Given the description of an element on the screen output the (x, y) to click on. 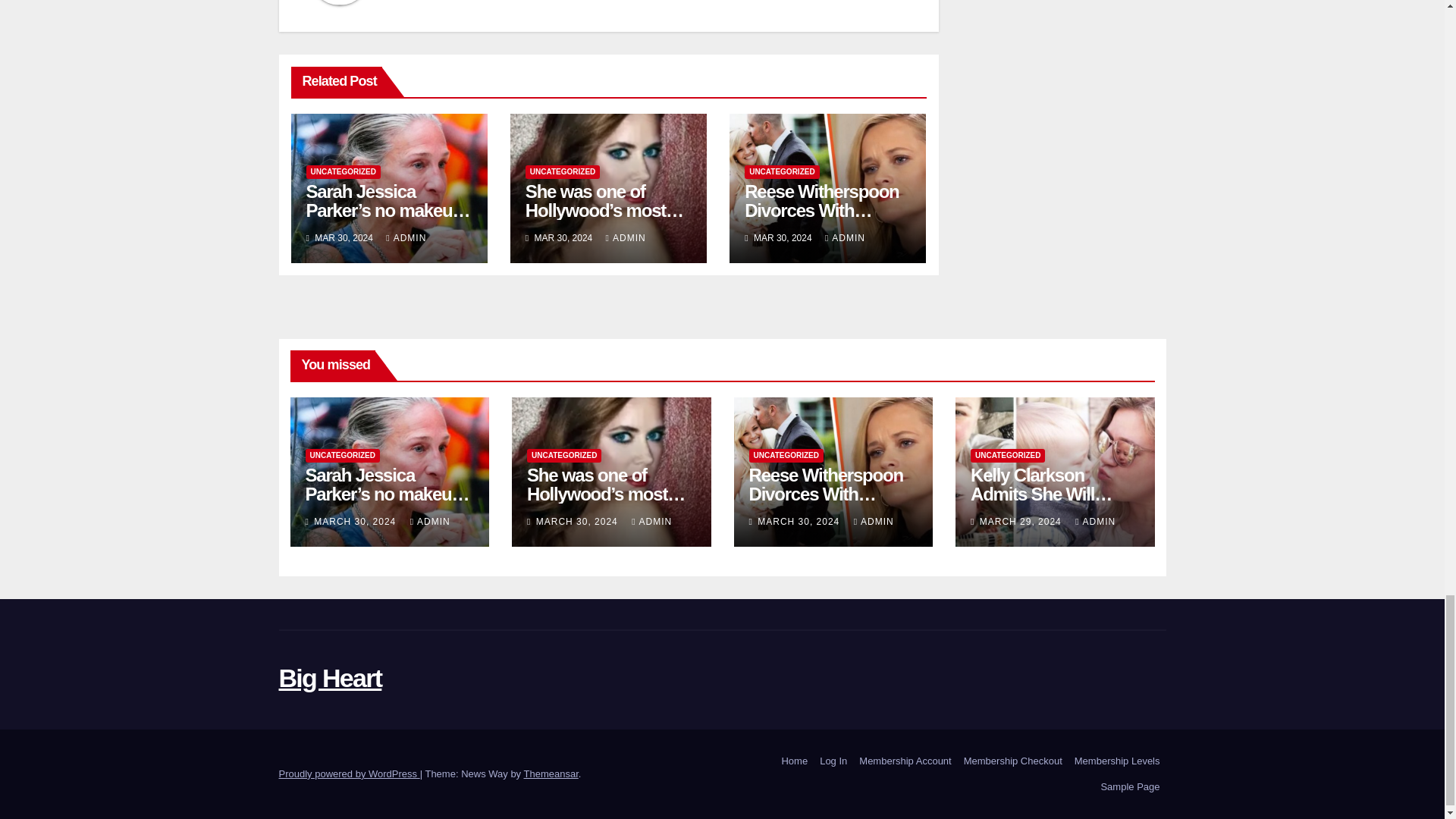
ADMIN (625, 237)
UNCATEGORIZED (562, 172)
UNCATEGORIZED (342, 172)
Home (793, 760)
ADMIN (405, 237)
